Given the description of an element on the screen output the (x, y) to click on. 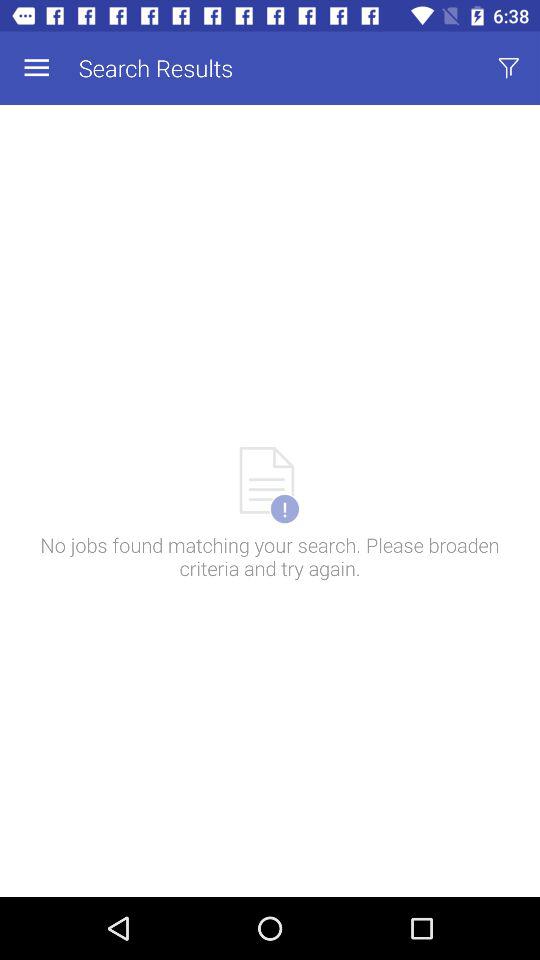
open the item above no jobs found (36, 68)
